Given the description of an element on the screen output the (x, y) to click on. 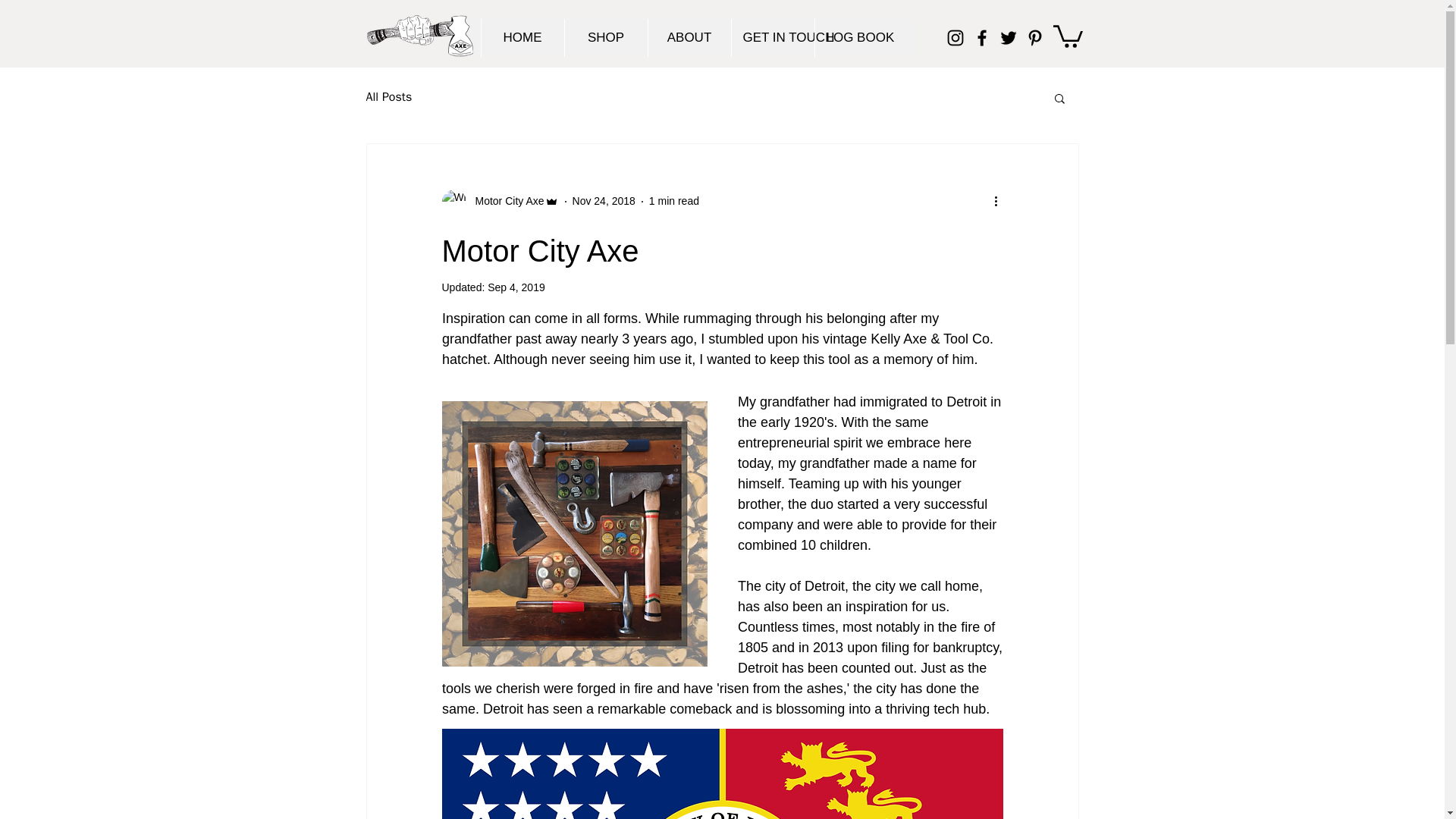
ABOUT (688, 37)
SHOP (605, 37)
1 min read (673, 200)
Sep 4, 2019 (515, 287)
Nov 24, 2018 (603, 200)
GET IN TOUCH (771, 37)
LOG BOOK (855, 37)
HOME (522, 37)
Motor City Axe (499, 201)
Motor City Axe (504, 201)
All Posts (388, 97)
